Given the description of an element on the screen output the (x, y) to click on. 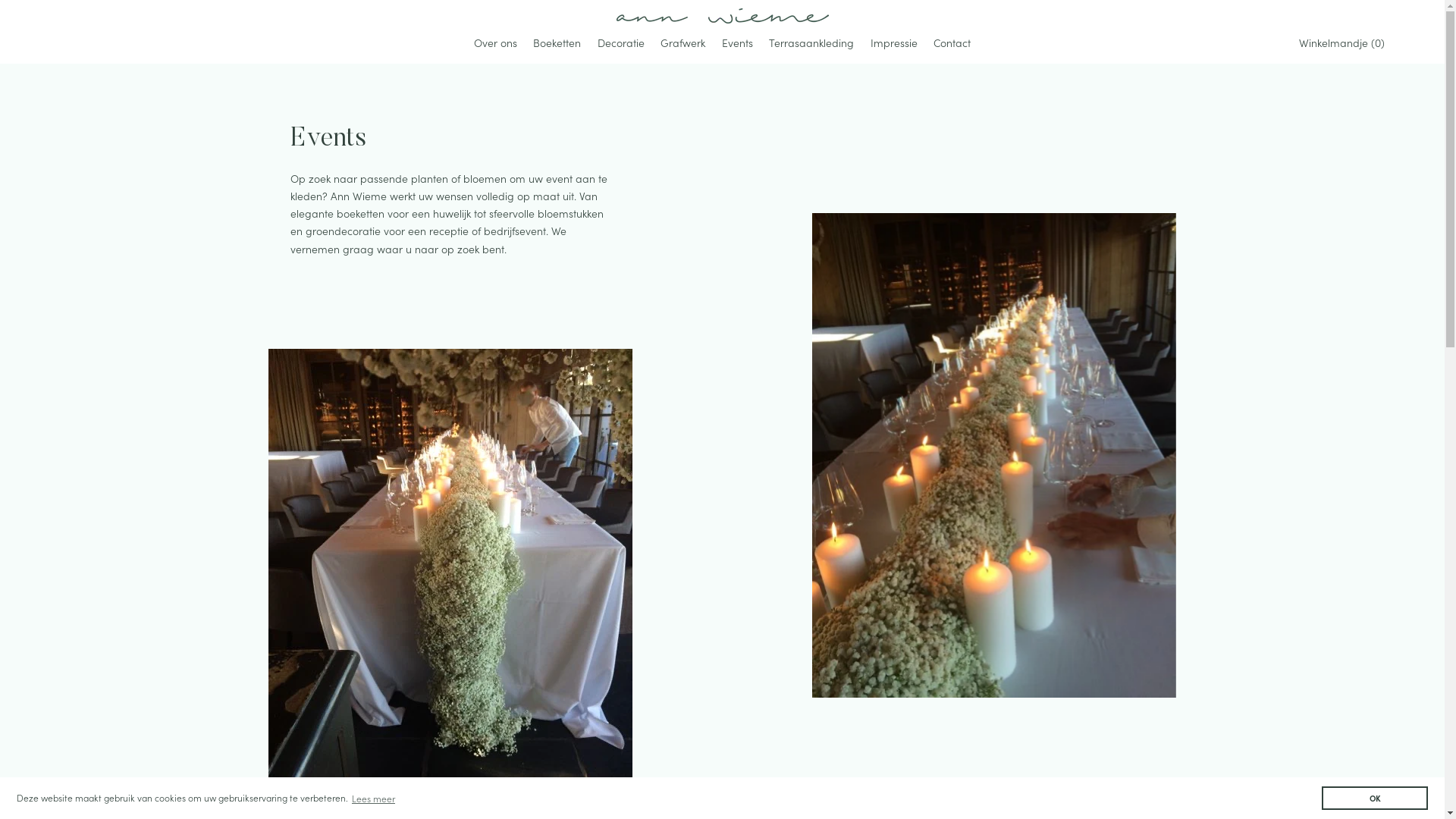
Events Element type: text (737, 44)
Winkelmandje (0) Element type: text (1345, 43)
Boeketten Element type: text (556, 44)
Impressie Element type: text (893, 44)
Lees meer Element type: text (373, 797)
Decoratie Element type: text (620, 44)
Terrasaankleding Element type: text (811, 44)
Over ons Element type: text (495, 44)
OK Element type: text (1374, 797)
Grafwerk Element type: text (682, 44)
Contact Element type: text (951, 44)
